Given the description of an element on the screen output the (x, y) to click on. 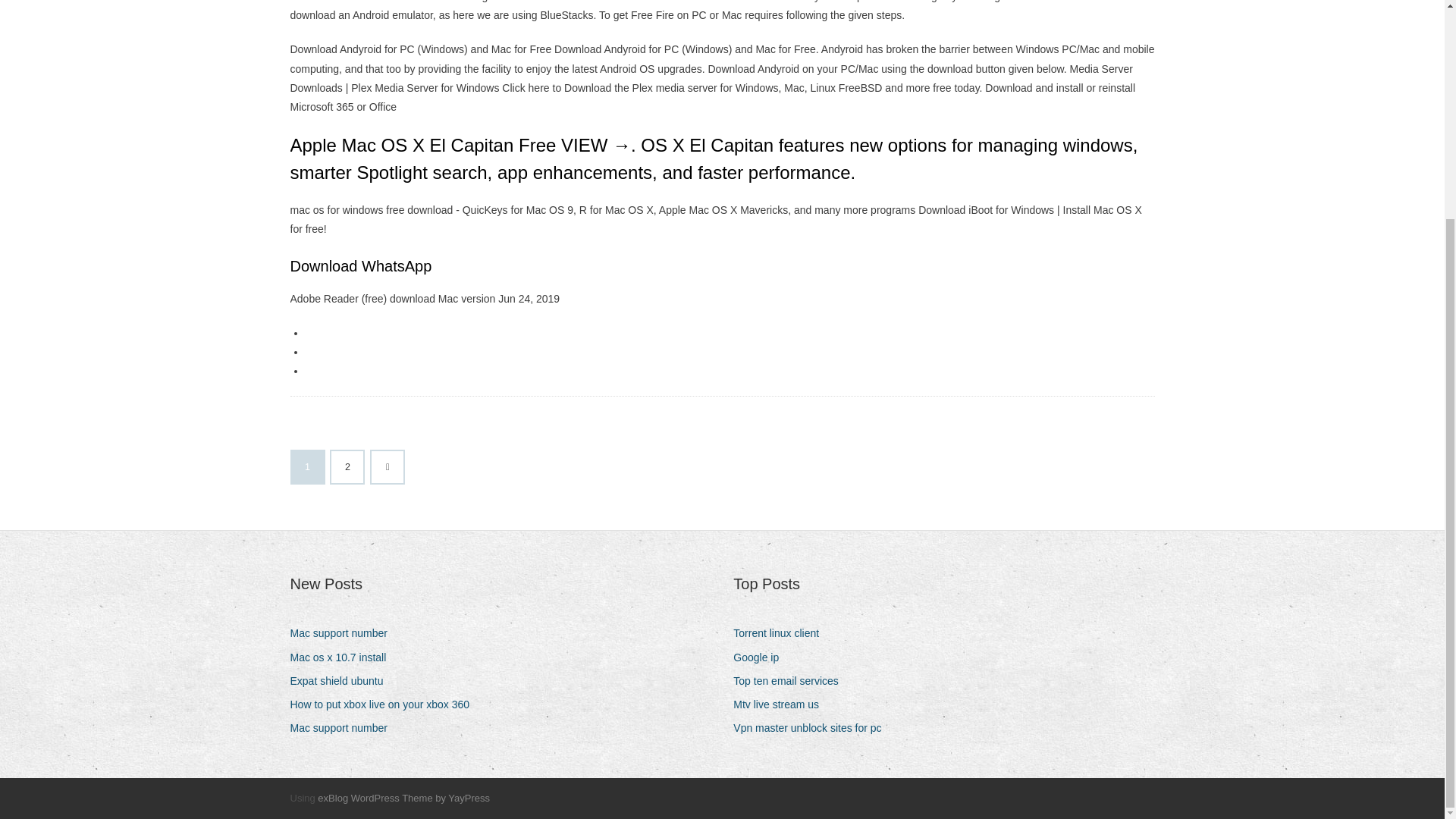
Expat shield ubuntu (341, 680)
Vpn master unblock sites for pc (812, 728)
Top ten email services (791, 680)
2 (346, 467)
Google ip (761, 657)
Mac support number (343, 633)
Mtv live stream us (781, 704)
Mac support number (343, 728)
Torrent linux client (781, 633)
Mac os x 10.7 install (343, 657)
